Given the description of an element on the screen output the (x, y) to click on. 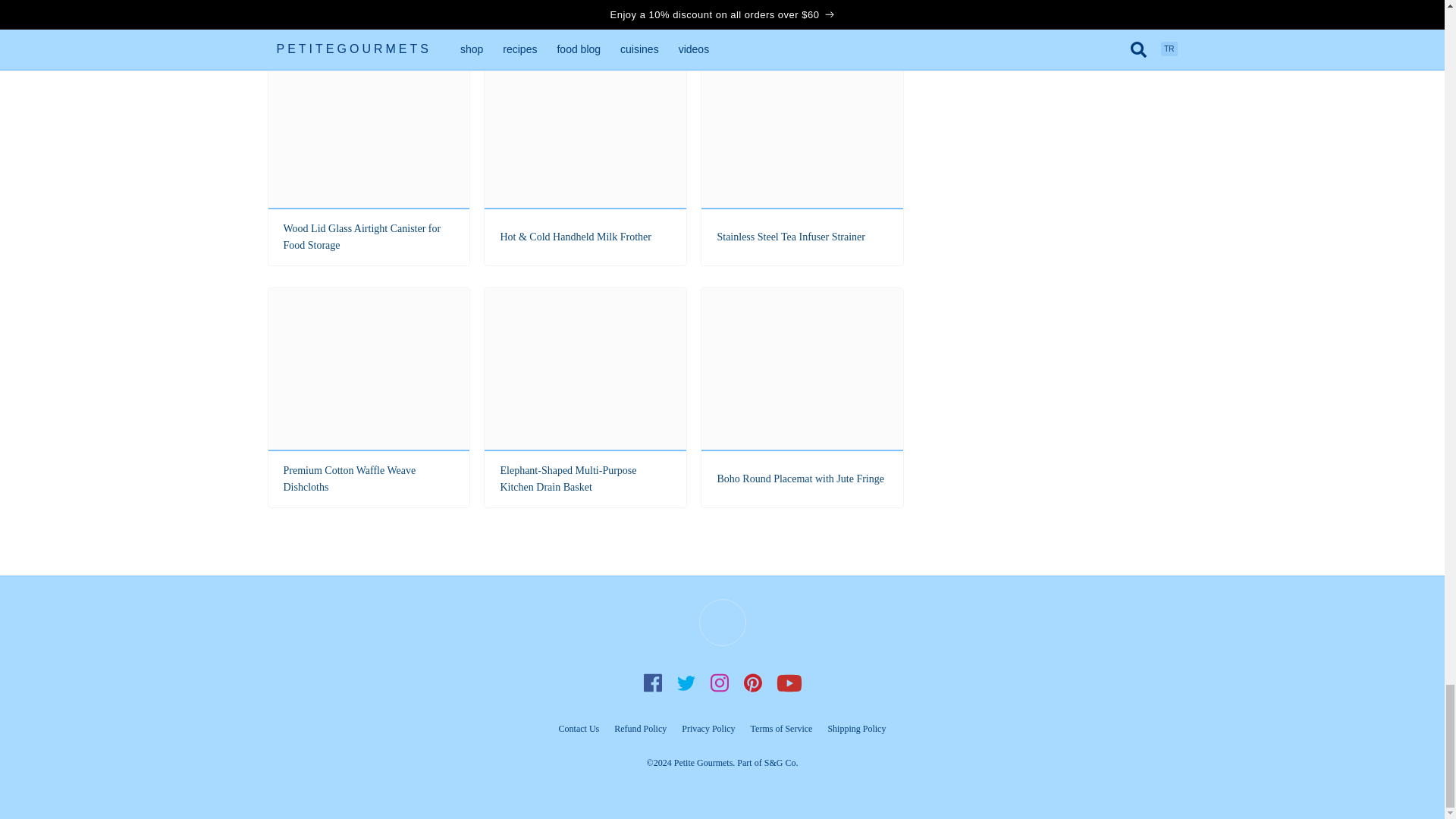
Premium Cotton Waffle Weave Dishcloths (368, 397)
Boho Round Placemat with Jute Fringe (801, 397)
follow us on twitter (684, 682)
follow us on instagram (718, 682)
Stainless Steel Tea Infuser Strainer (801, 155)
Wood Lid Glass Airtight Canister for Food Storage (368, 155)
follow us on pinterest (751, 682)
follow us on facebook (651, 682)
Elephant-Shaped Multi-Purpose Kitchen Drain Basket (584, 397)
subscribe on youtube (788, 682)
